Given the description of an element on the screen output the (x, y) to click on. 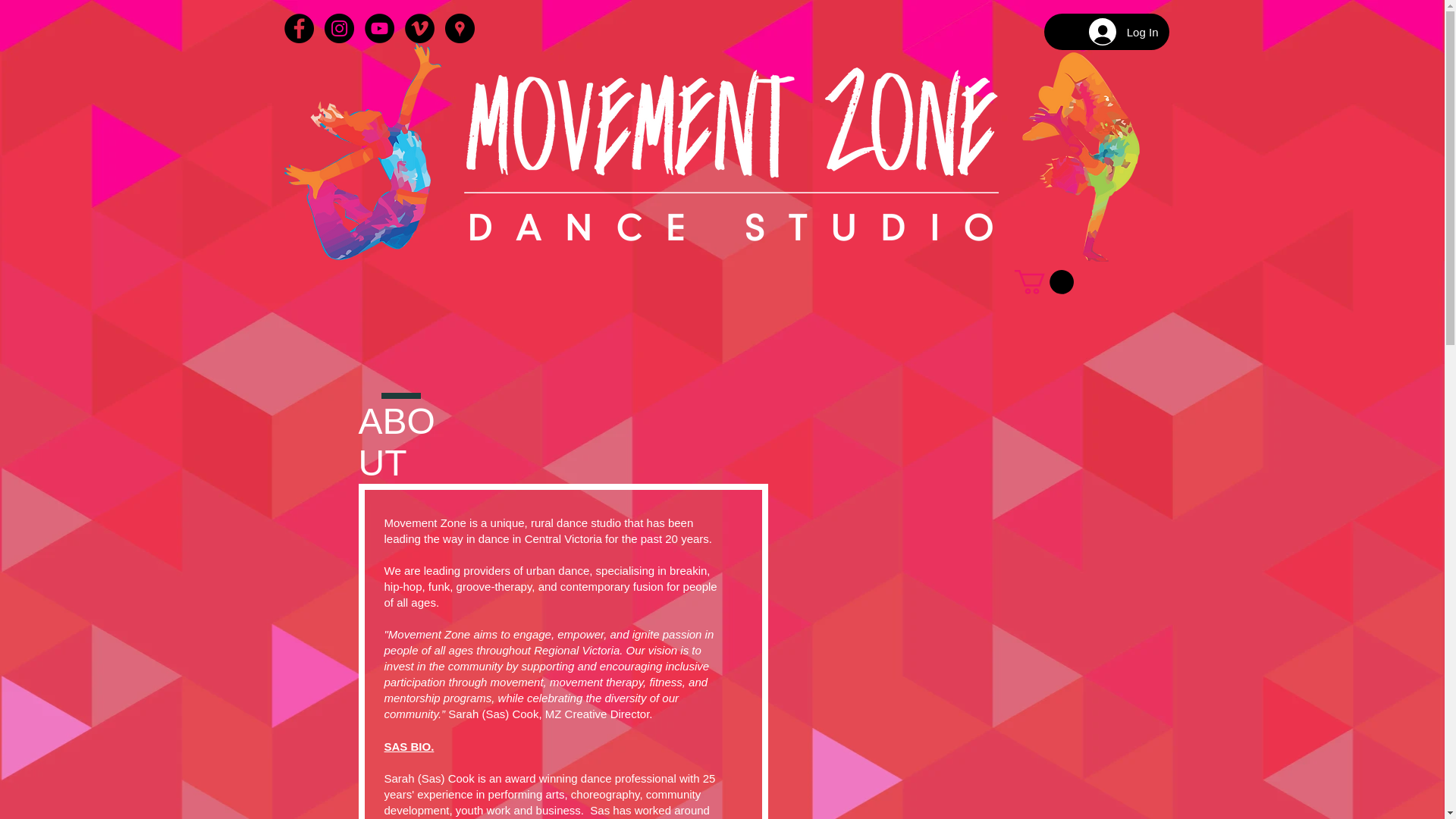
Log In (1123, 31)
